Given the description of an element on the screen output the (x, y) to click on. 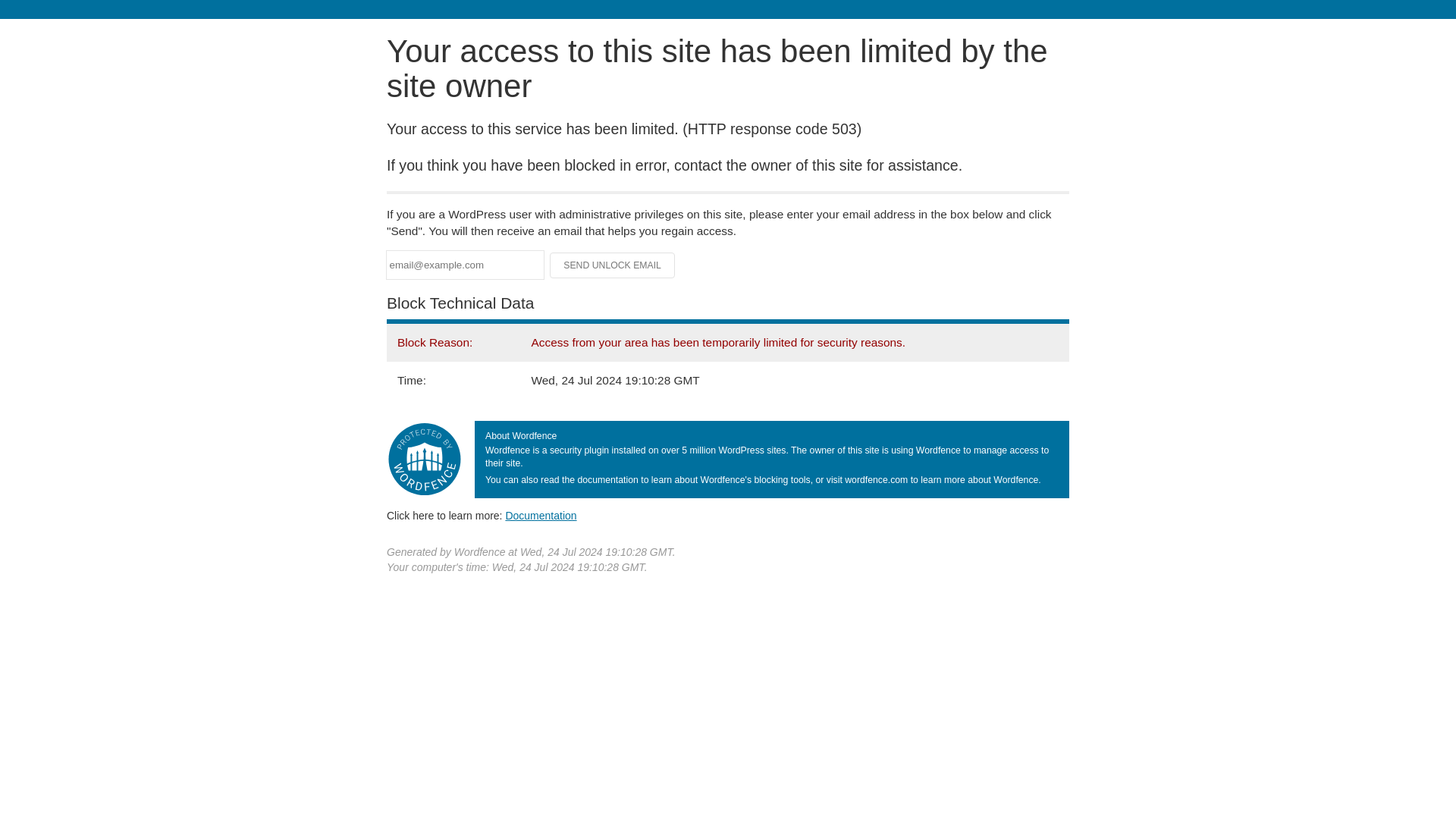
Documentation (540, 515)
Send Unlock Email (612, 265)
Send Unlock Email (612, 265)
